Given the description of an element on the screen output the (x, y) to click on. 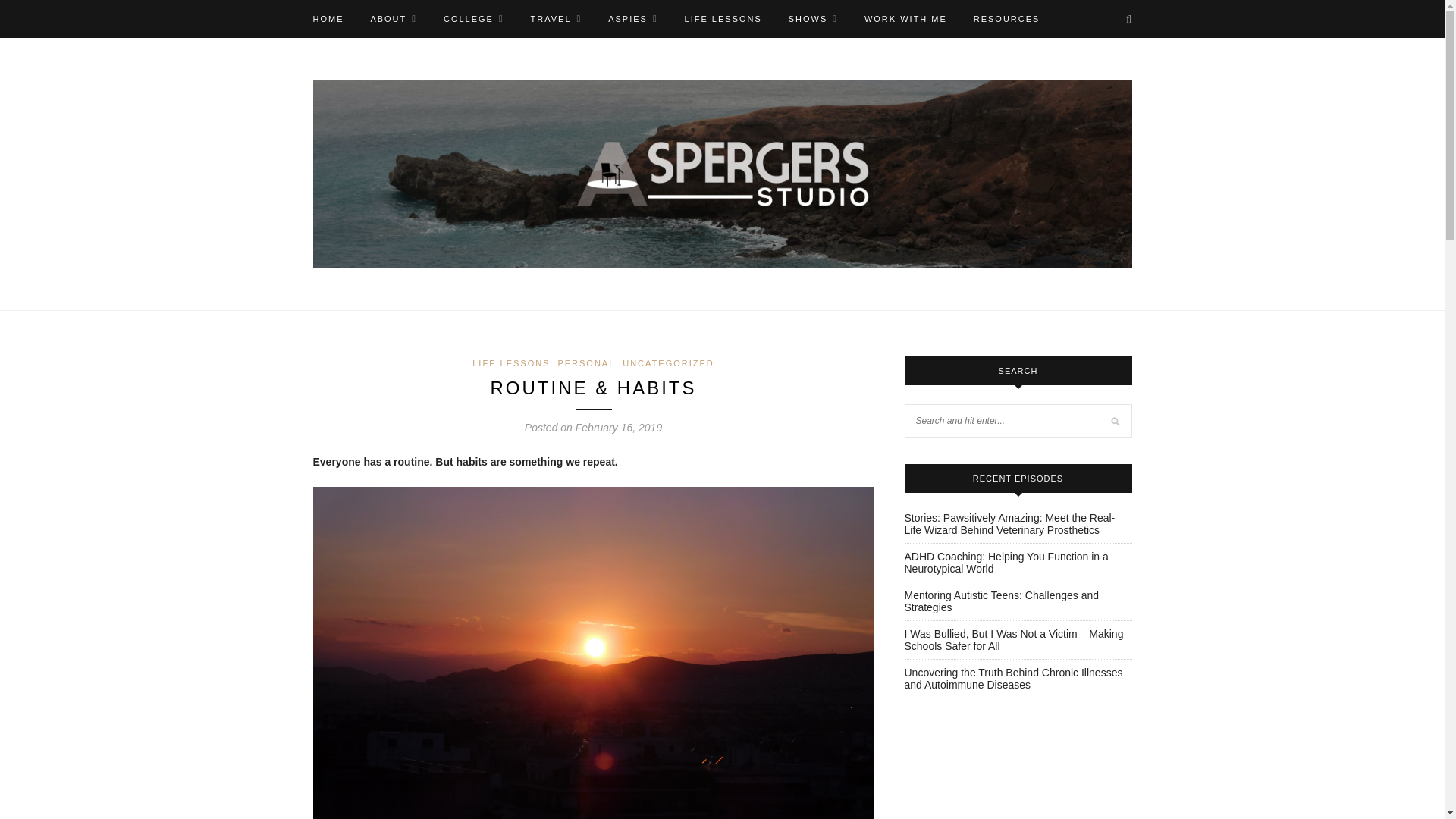
RESOURCES (1007, 18)
WORK WITH ME (905, 18)
SHOWS (813, 18)
TRAVEL (556, 18)
ABOUT (392, 18)
LIFE LESSONS (722, 18)
COLLEGE (473, 18)
ASPIES (633, 18)
